Given the description of an element on the screen output the (x, y) to click on. 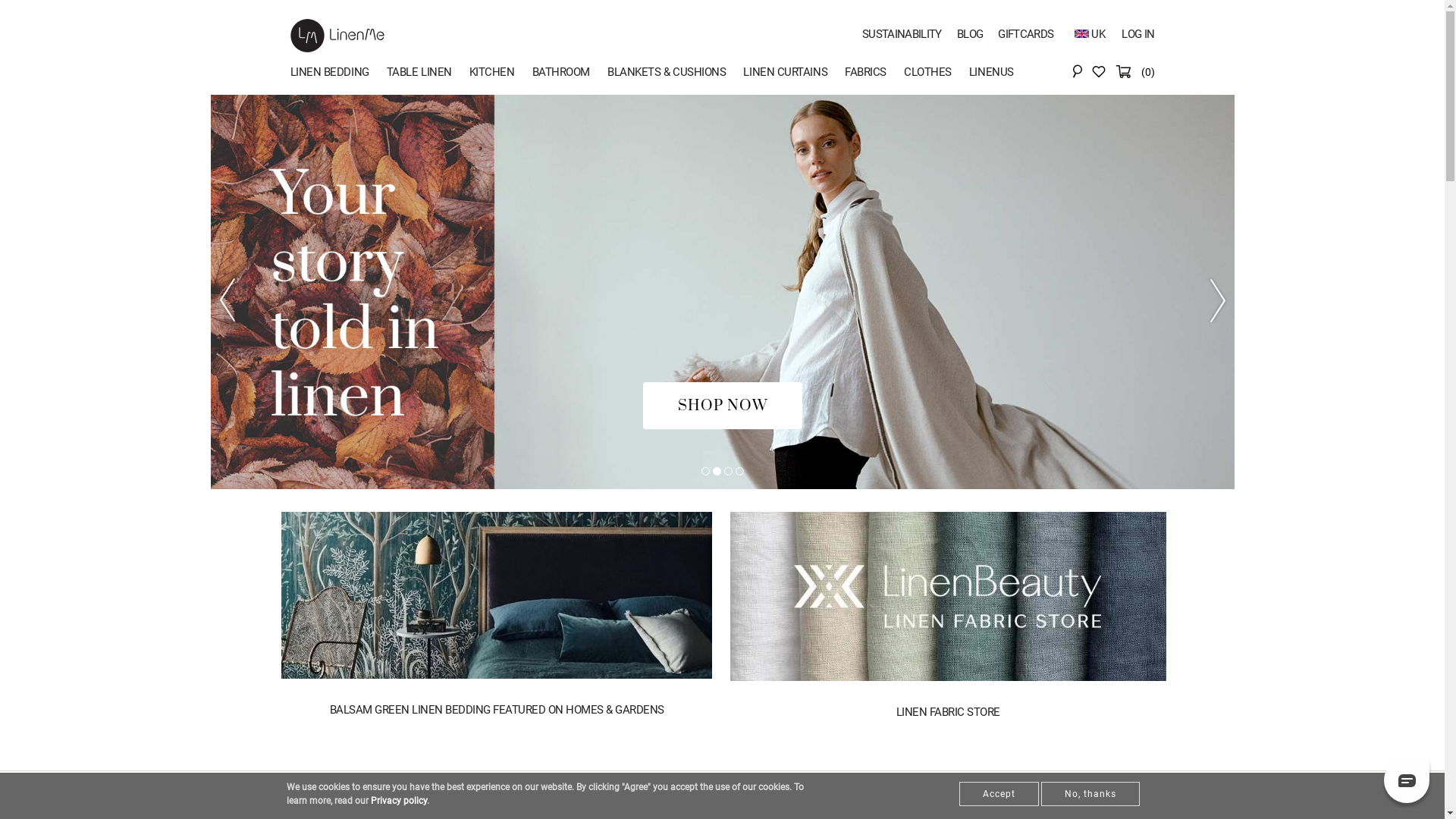
TABLE LINEN Element type: text (427, 73)
2 Element type: text (716, 471)
1 Element type: text (704, 471)
3 Element type: text (727, 471)
BALSAM GREEN LINEN BEDDING FEATURED ON HOMES & GARDENS Element type: text (497, 715)
No, thanks Element type: text (1089, 793)
BLANKETS & CUSHIONS Element type: text (675, 73)
4 Element type: text (739, 471)
LINEN BEDDING Element type: text (337, 73)
LINENUS Element type: text (1000, 73)
BATHROOM Element type: text (569, 73)
BLOG Element type: text (969, 33)
Privacy policy Element type: text (398, 800)
IMAGE Element type: text (729, 519)
UK Element type: text (1089, 33)
FABRICS Element type: text (873, 73)
LINEN FABRIC STORE Element type: text (947, 717)
Previous Element type: text (233, 299)
KITCHEN Element type: text (500, 73)
Accept Element type: text (998, 793)
LOG IN Element type: text (1137, 33)
LINEN CURTAINS Element type: text (793, 73)
SUSTAINABILITY Element type: text (901, 33)
GIFTCARDS Element type: text (1025, 33)
Rate Element type: text (43, 17)
IMAGE Element type: text (277, 519)
CLOTHES Element type: text (936, 73)
Chat Element type: hover (1406, 778)
Next Element type: text (1211, 299)
